Given the description of an element on the screen output the (x, y) to click on. 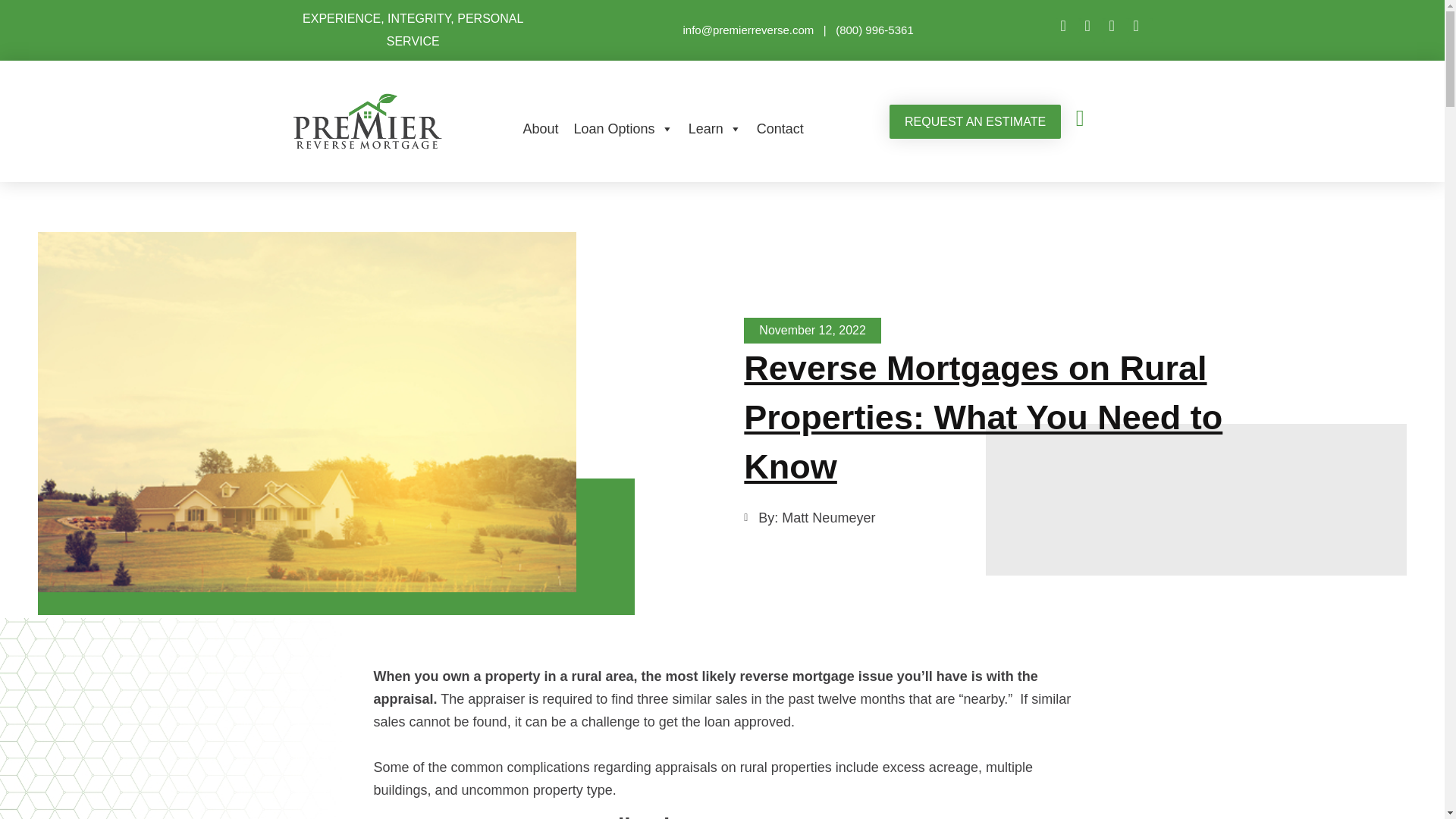
Learn (715, 128)
Loan Options (623, 128)
REQUEST AN ESTIMATE (975, 121)
By: Matt Neumeyer (809, 517)
